Given the description of an element on the screen output the (x, y) to click on. 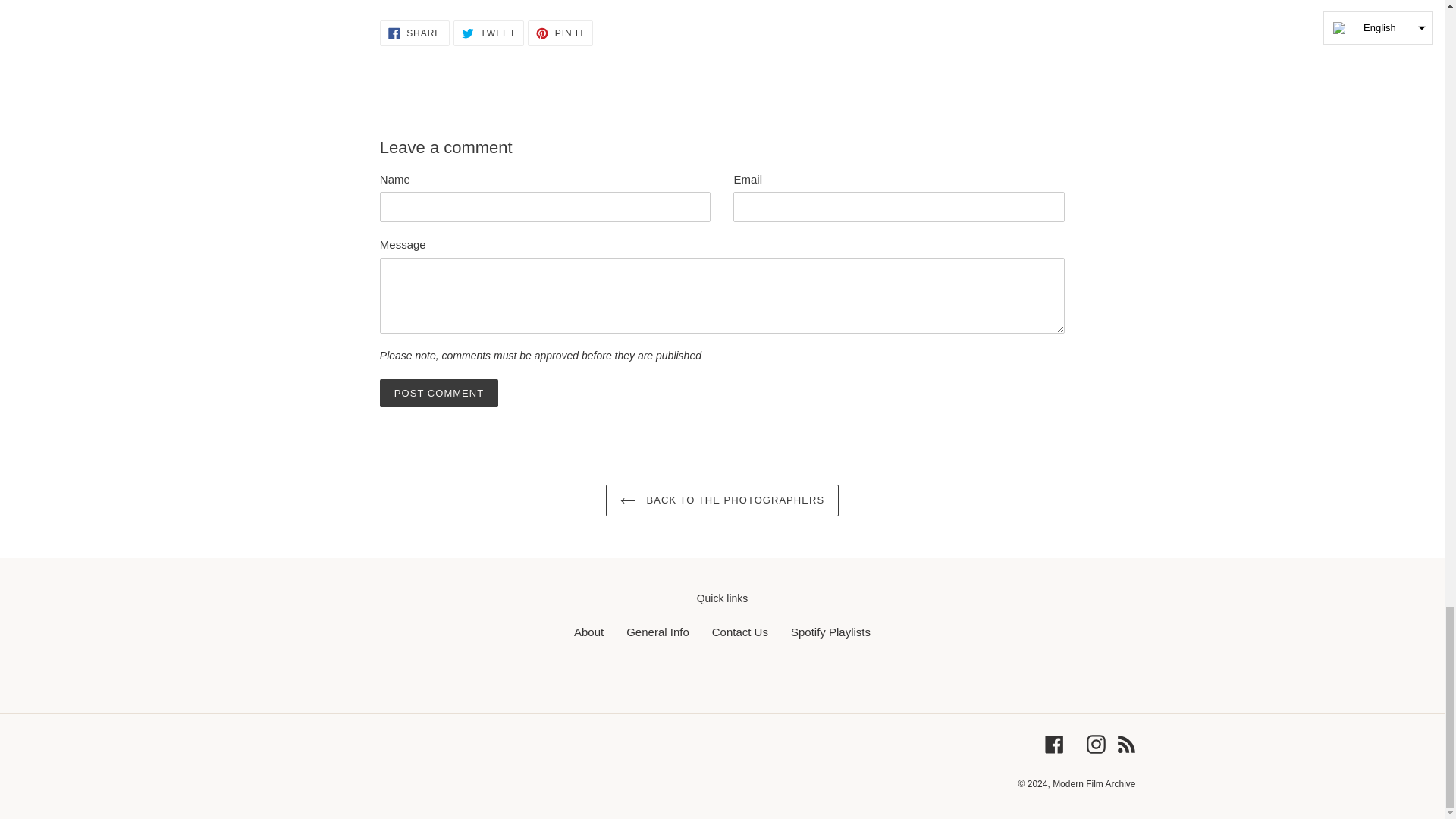
Post comment (438, 393)
Post comment (438, 393)
